Given the description of an element on the screen output the (x, y) to click on. 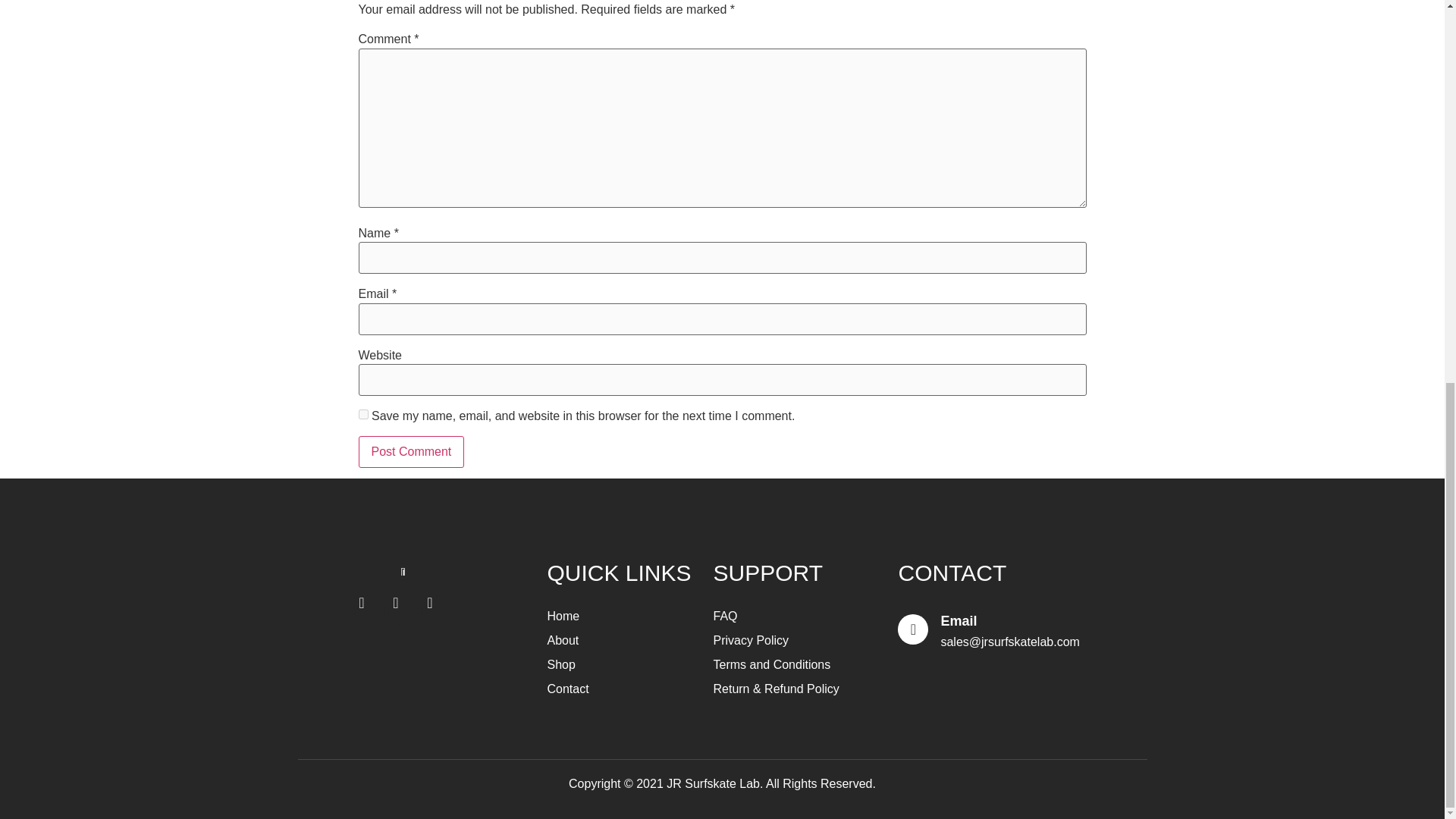
yes (363, 414)
Post Comment (411, 451)
